Given the description of an element on the screen output the (x, y) to click on. 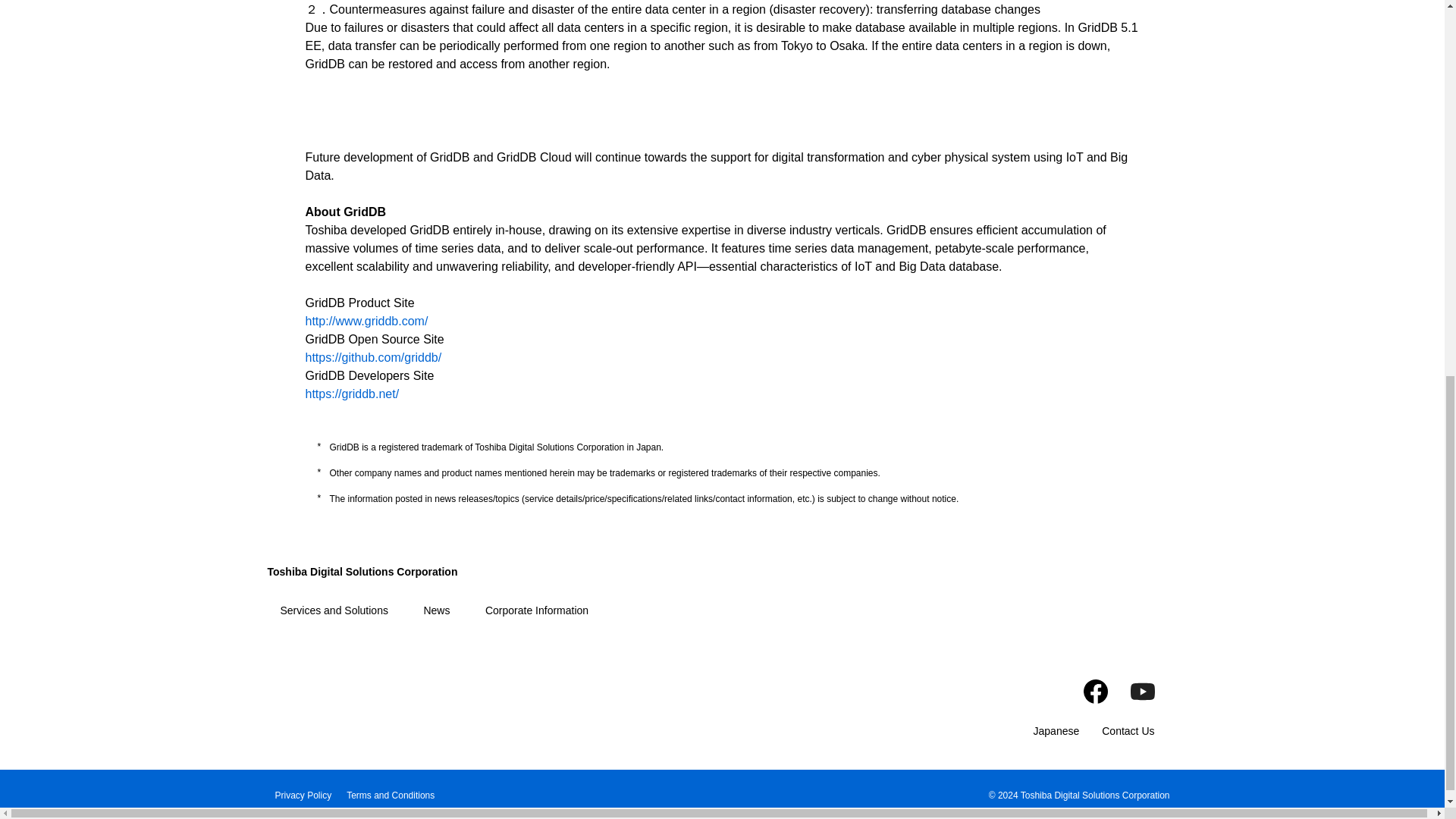
Corporate Information (536, 610)
News (436, 610)
News (436, 610)
Toshiba Digital Solutions Corporation (361, 571)
Services and Solutions (334, 610)
Corporate Information (536, 610)
Terms and Conditions (389, 794)
Japanese (1056, 731)
Privacy Policy (303, 794)
Toshiba Digital Solutions Corporation (361, 571)
